Given the description of an element on the screen output the (x, y) to click on. 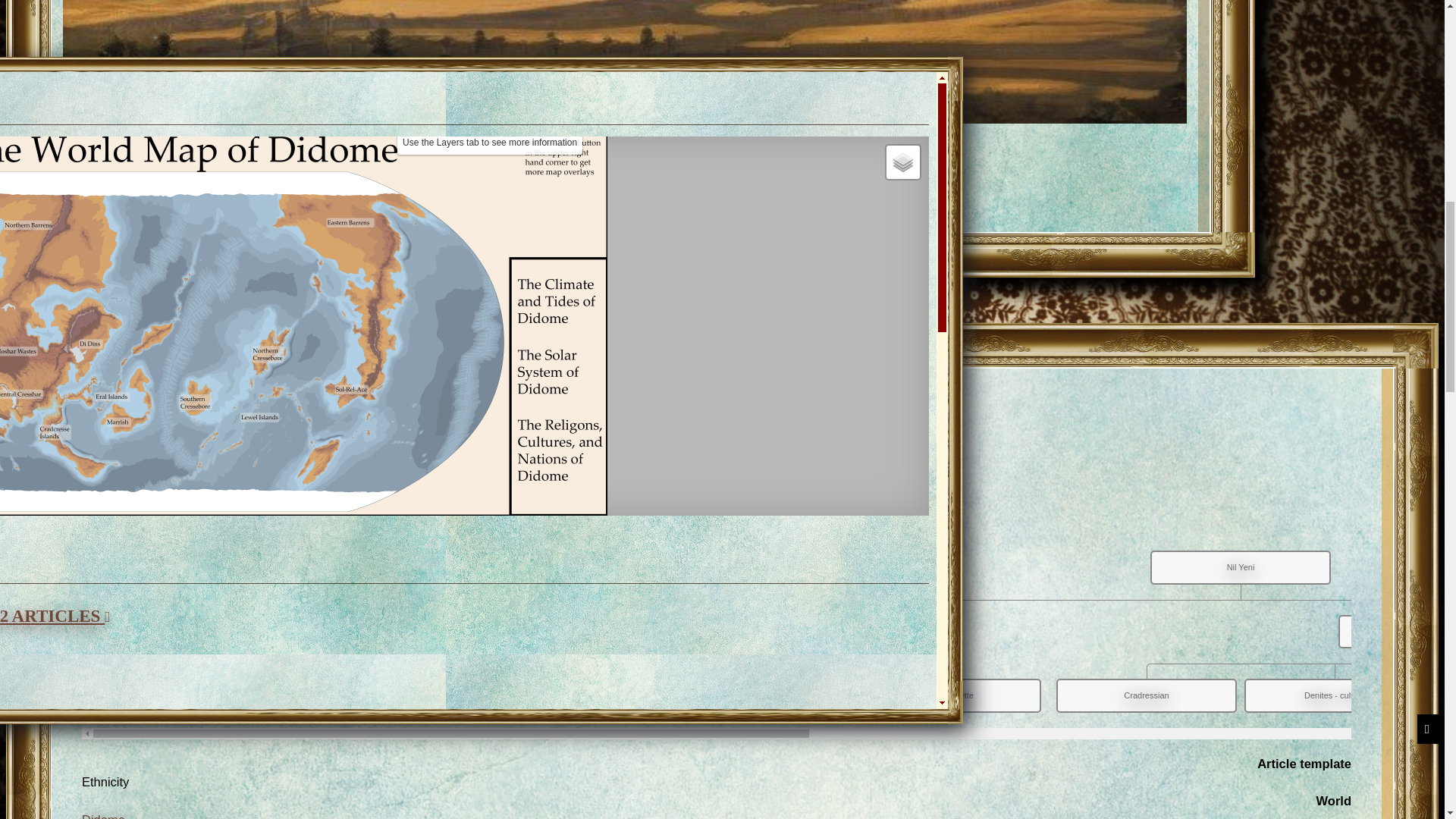
Old Delnarian (387, 443)
Northern Tresbort Cities (574, 443)
Go to Didome Homepage (142, 150)
Marrish (199, 533)
The flight of the Marites (569, 533)
Promethean (480, 313)
Darmsel Darmin (501, 553)
Marrish (762, 443)
Menthum (222, 606)
Old Yenarian (197, 443)
Barsaminism (290, 553)
Nil Yeni (480, 371)
